Given the description of an element on the screen output the (x, y) to click on. 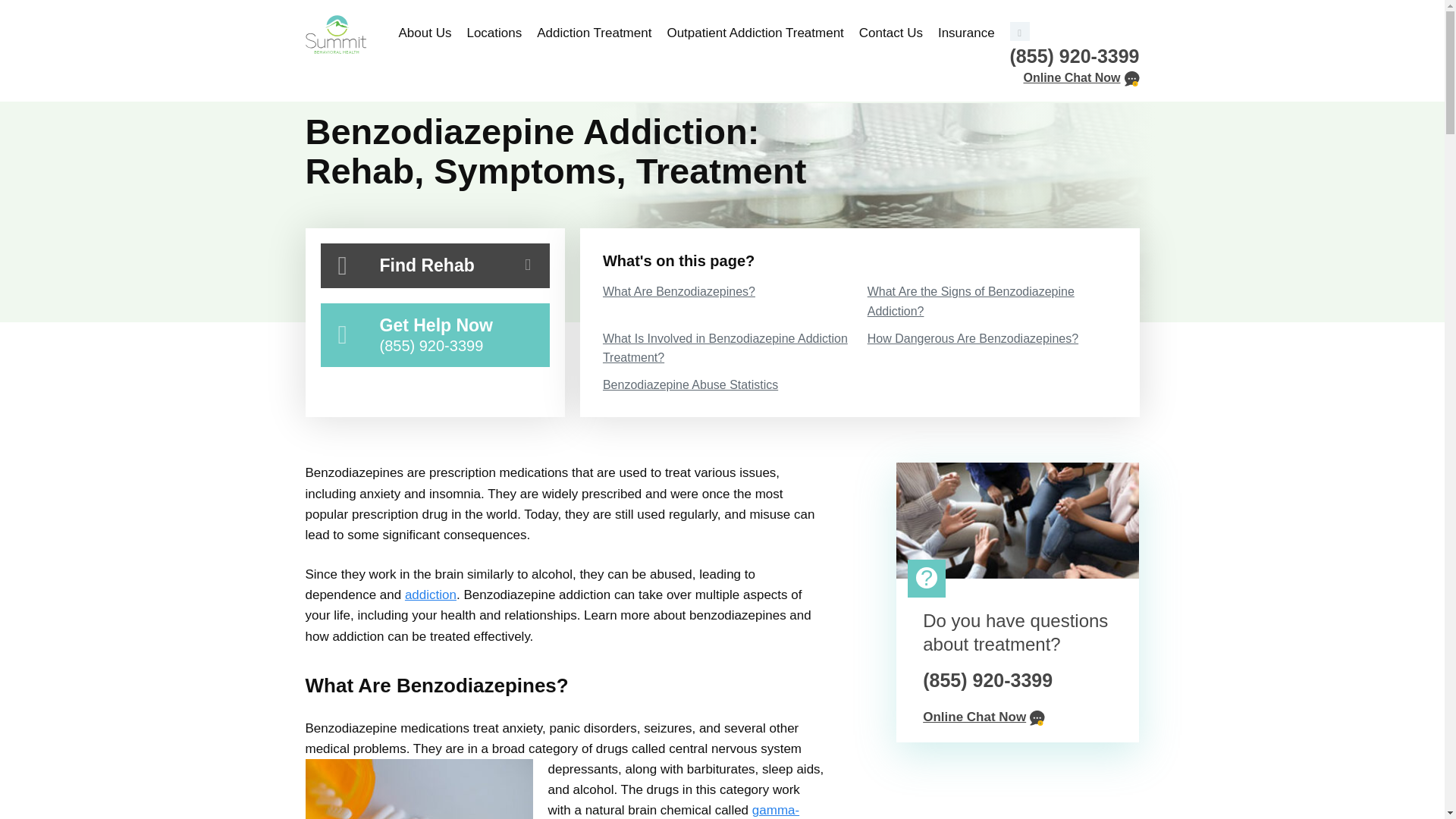
Locations (493, 33)
What Are Benzodiazepines? (727, 291)
Insurance (962, 33)
Insurance (962, 33)
Online Chat Now (1081, 77)
Contact Us (890, 33)
Outpatient Addiction Treatment (754, 33)
Locations (493, 33)
Addiction Treatment (594, 33)
About Us (429, 33)
Addiction Treatment (594, 33)
Contact Us (890, 33)
Outpatient Addiction Treatment (754, 33)
What Are the Signs of Benzodiazepine Addiction? (992, 301)
About Us (429, 33)
